Given the description of an element on the screen output the (x, y) to click on. 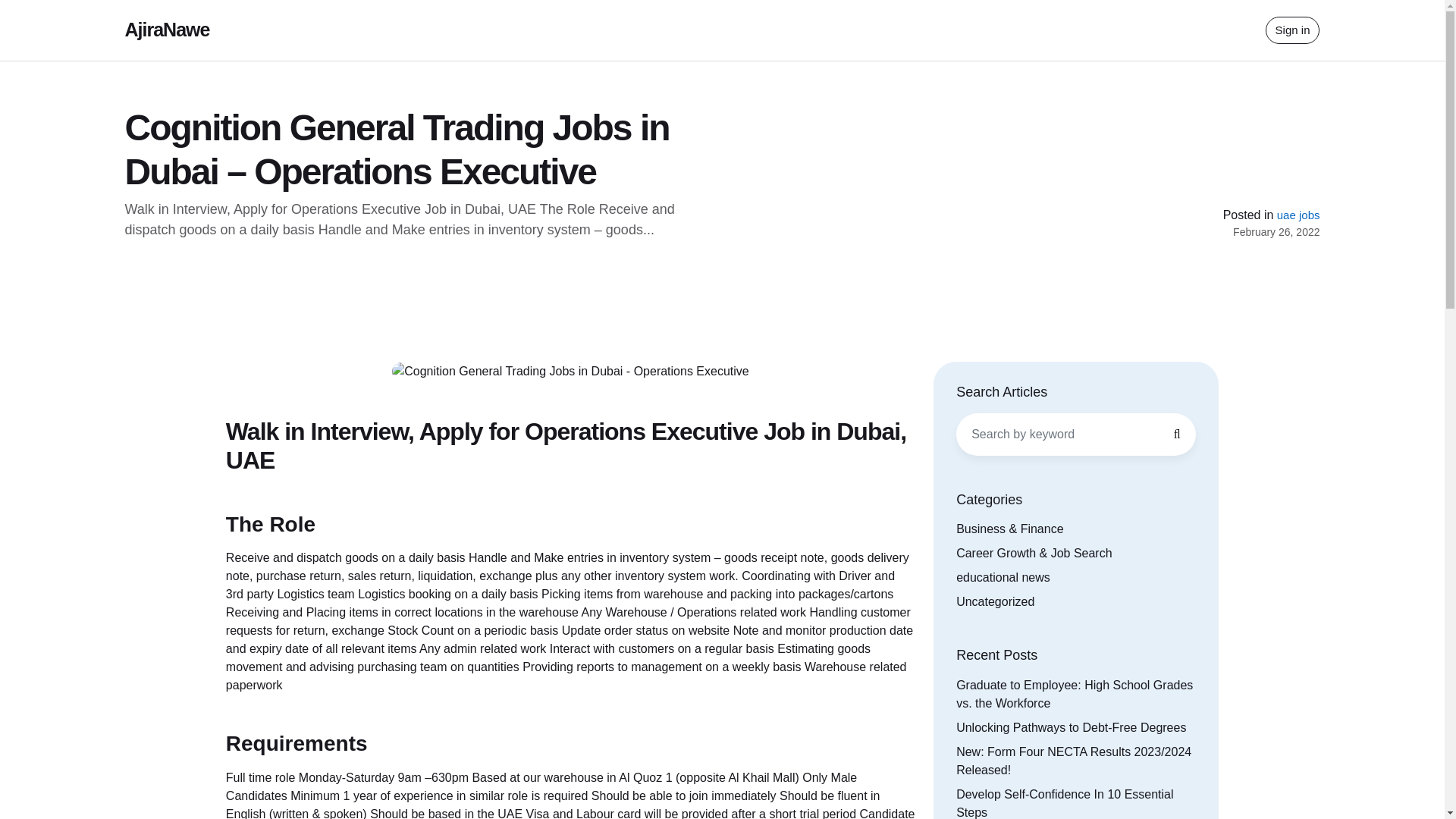
Sign in (1292, 30)
AjiraNawe (166, 29)
uae jobs (1298, 214)
View all posts in uae jobs (1298, 214)
